Given the description of an element on the screen output the (x, y) to click on. 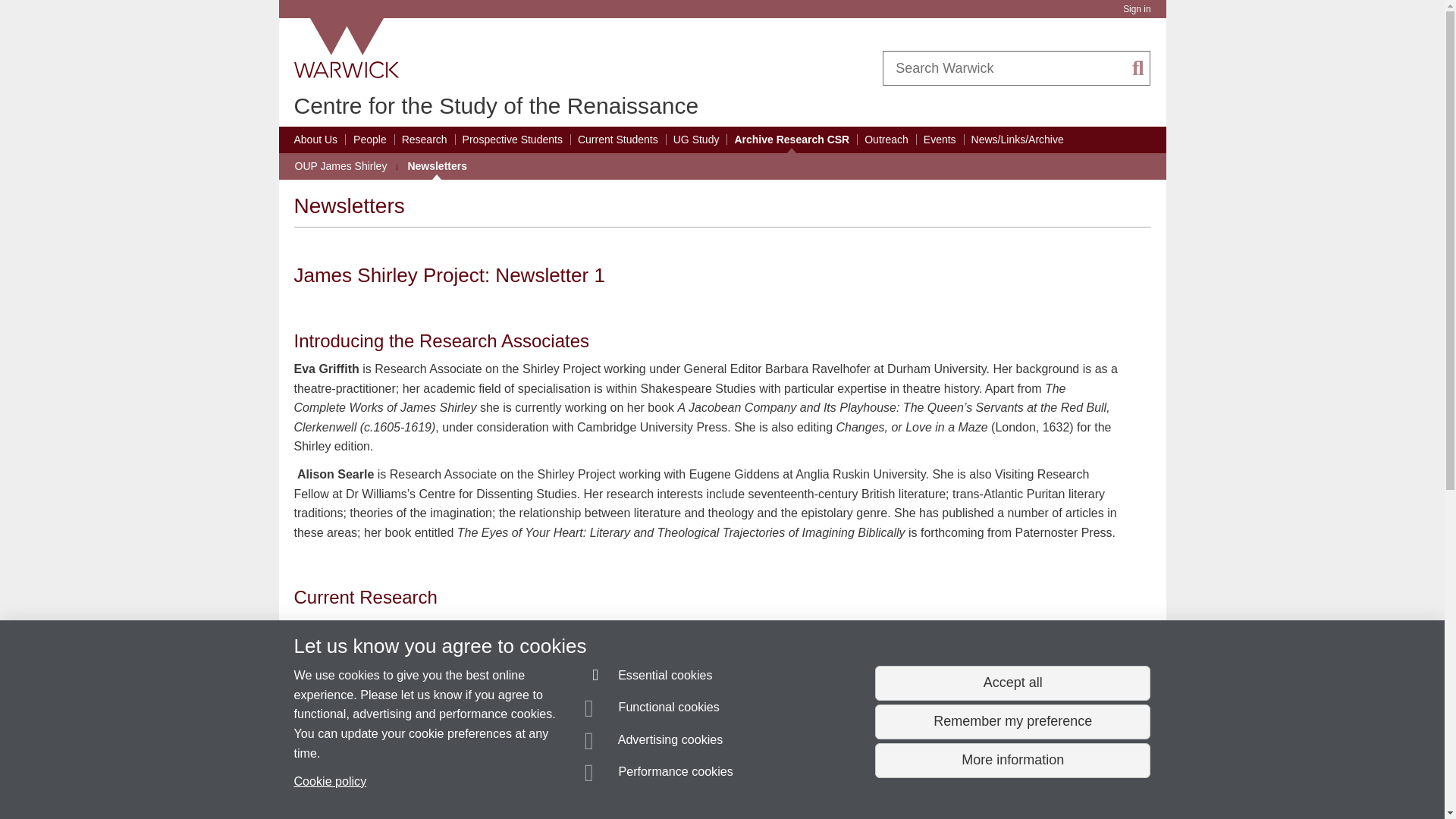
Essential cookies are always on (649, 677)
About Us (315, 139)
Research (423, 139)
Prospective Students (512, 139)
Centre for the Study of the Renaissance (496, 105)
Accept all functional, advertising and performance cookies (1012, 683)
People (370, 139)
Sign in (1136, 9)
